Given the description of an element on the screen output the (x, y) to click on. 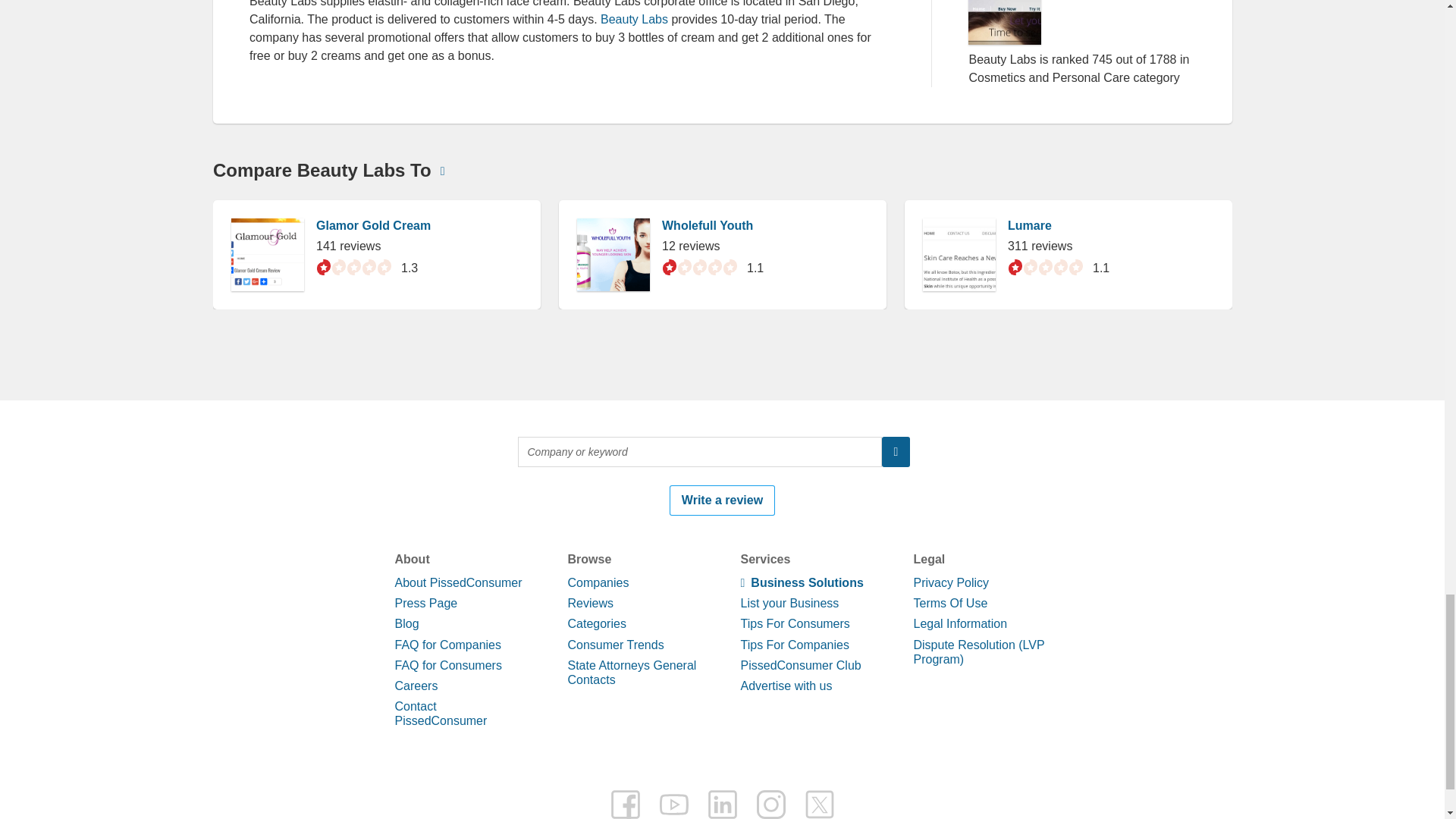
Lumare (1029, 817)
Beauty Labs (635, 19)
Glamor Gold Cream (372, 817)
Wholefull Youth (706, 817)
